Given the description of an element on the screen output the (x, y) to click on. 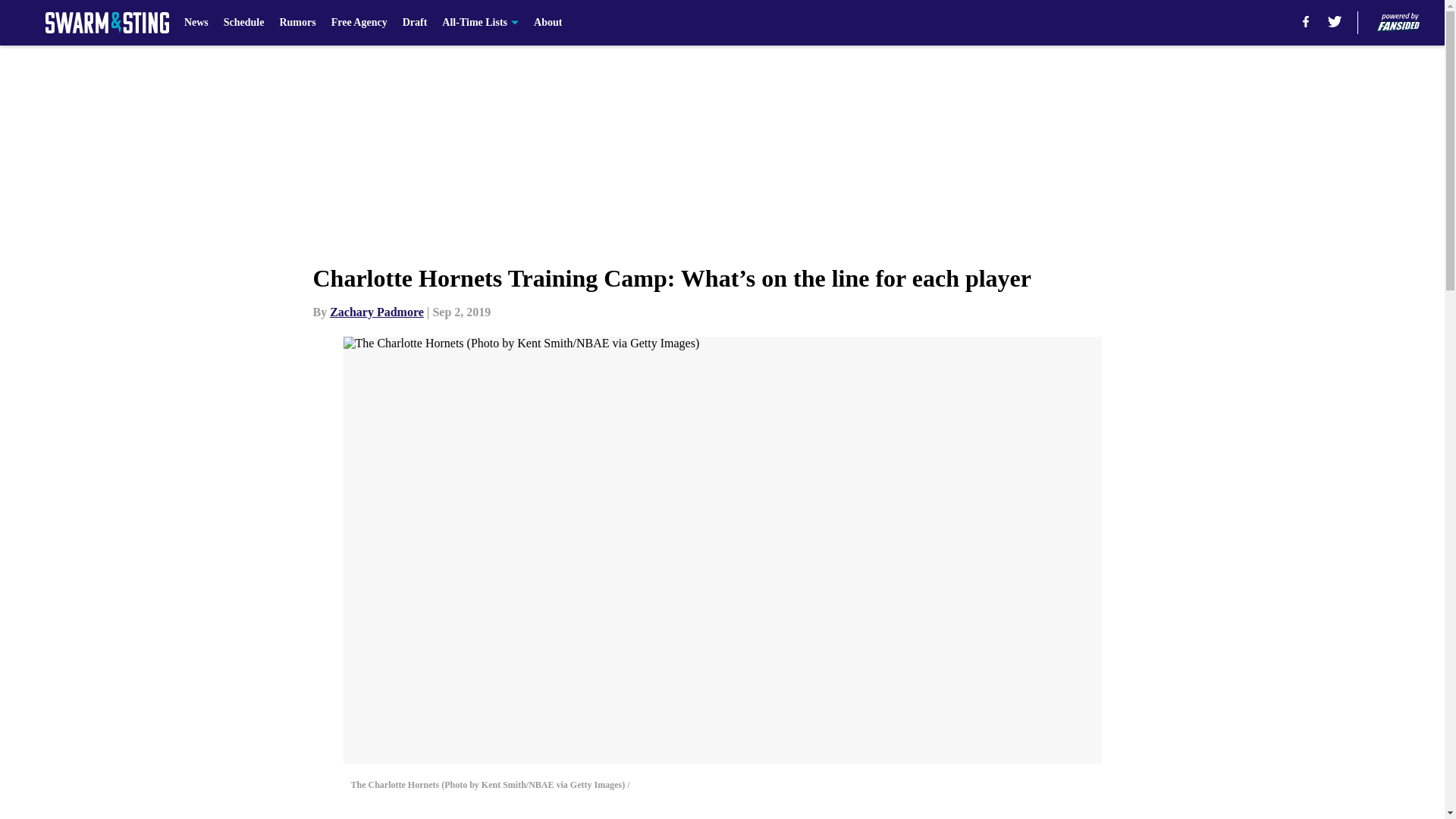
Rumors (297, 22)
About (548, 22)
Schedule (244, 22)
Zachary Padmore (376, 311)
Free Agency (359, 22)
All-Time Lists (480, 22)
Draft (415, 22)
News (196, 22)
